Given the description of an element on the screen output the (x, y) to click on. 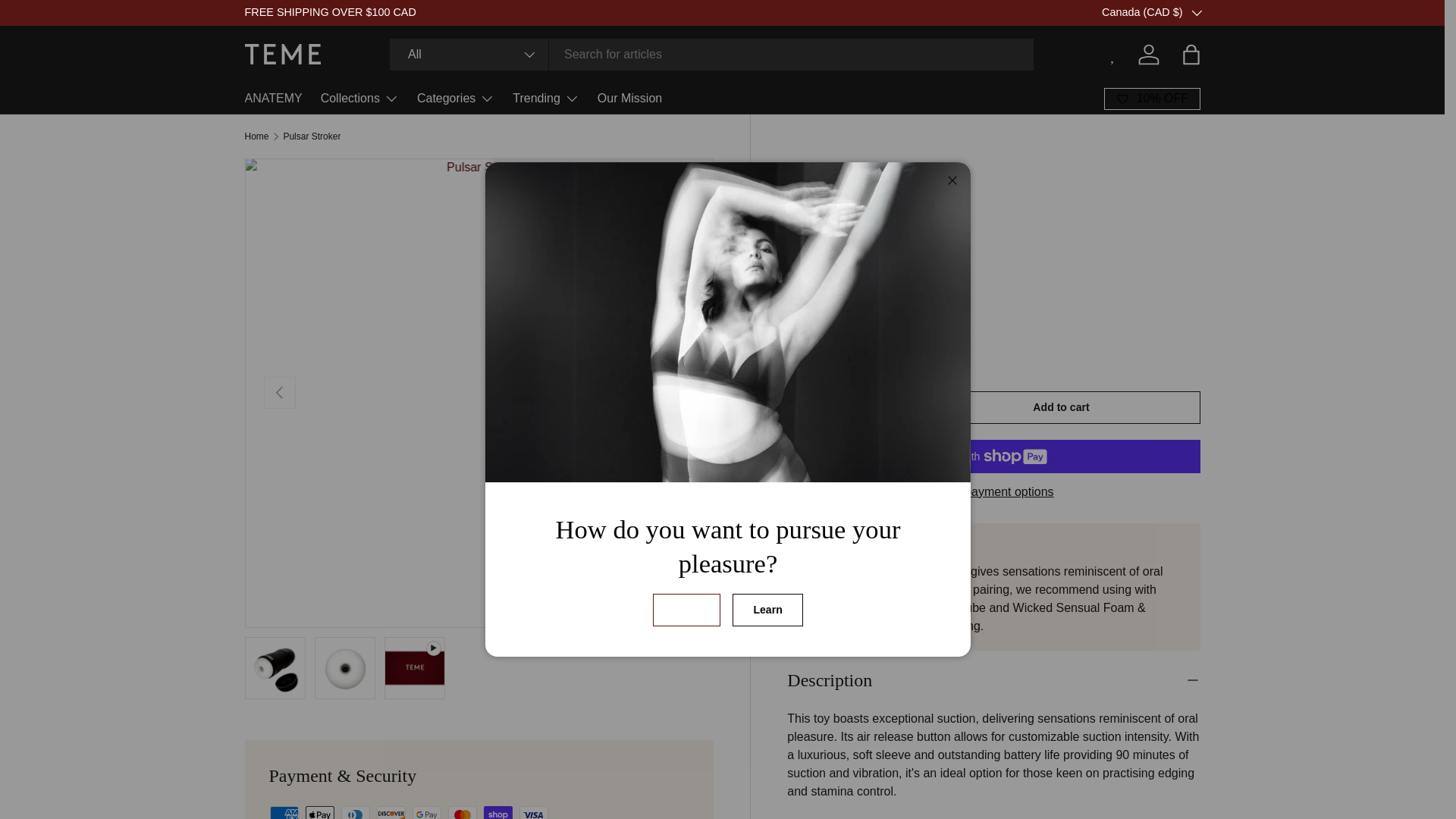
Collections (359, 98)
LEARN MORE (1223, 11)
Skip to content (68, 21)
All (469, 54)
ANATEMY (272, 98)
1 (848, 409)
Categories (455, 98)
Bag (1190, 54)
Trending (545, 98)
Duties Credit (1223, 11)
Log in (1147, 54)
